Given the description of an element on the screen output the (x, y) to click on. 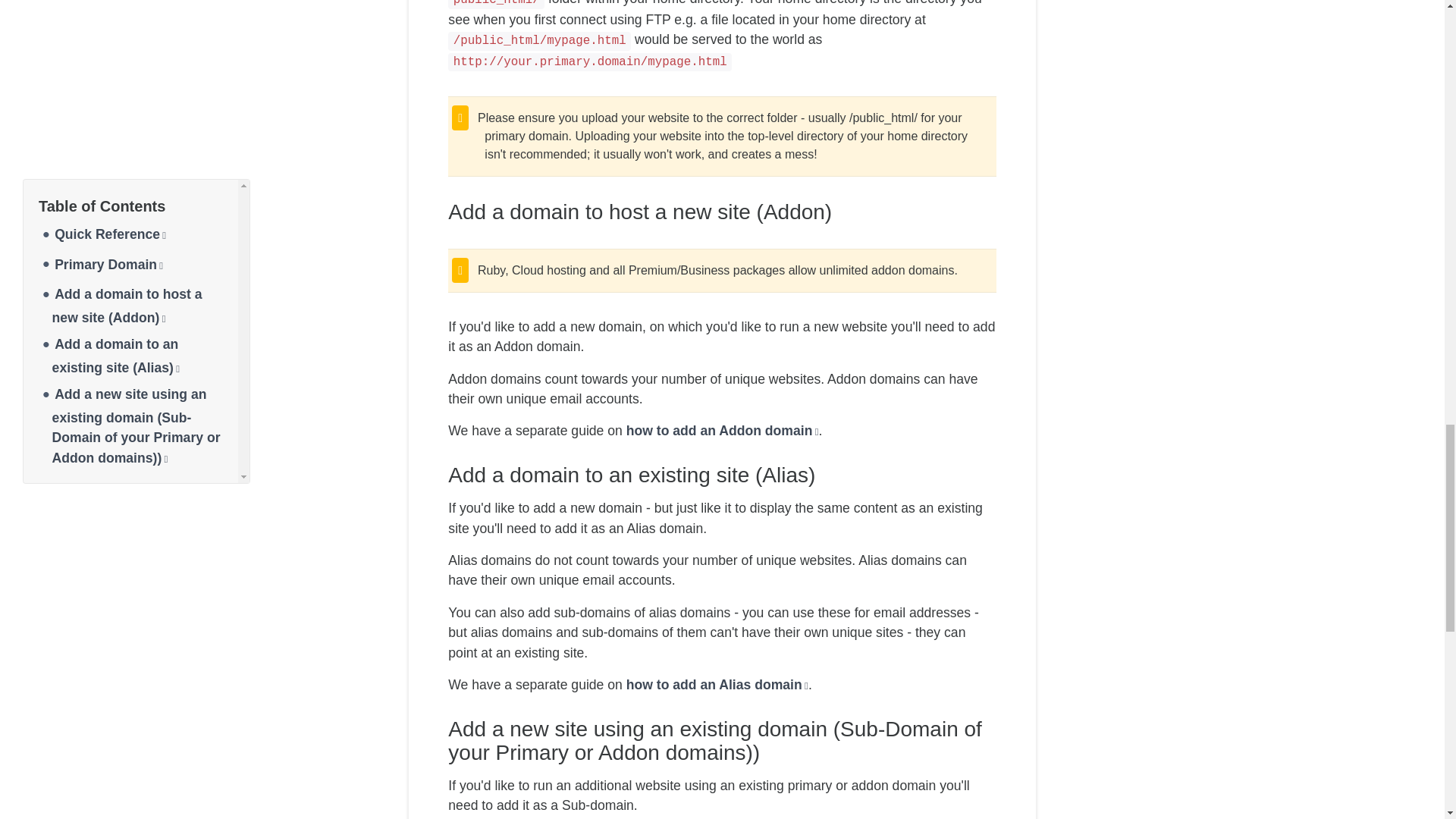
how to add an Addon domain (722, 430)
how to add an Alias domain (717, 684)
